Given the description of an element on the screen output the (x, y) to click on. 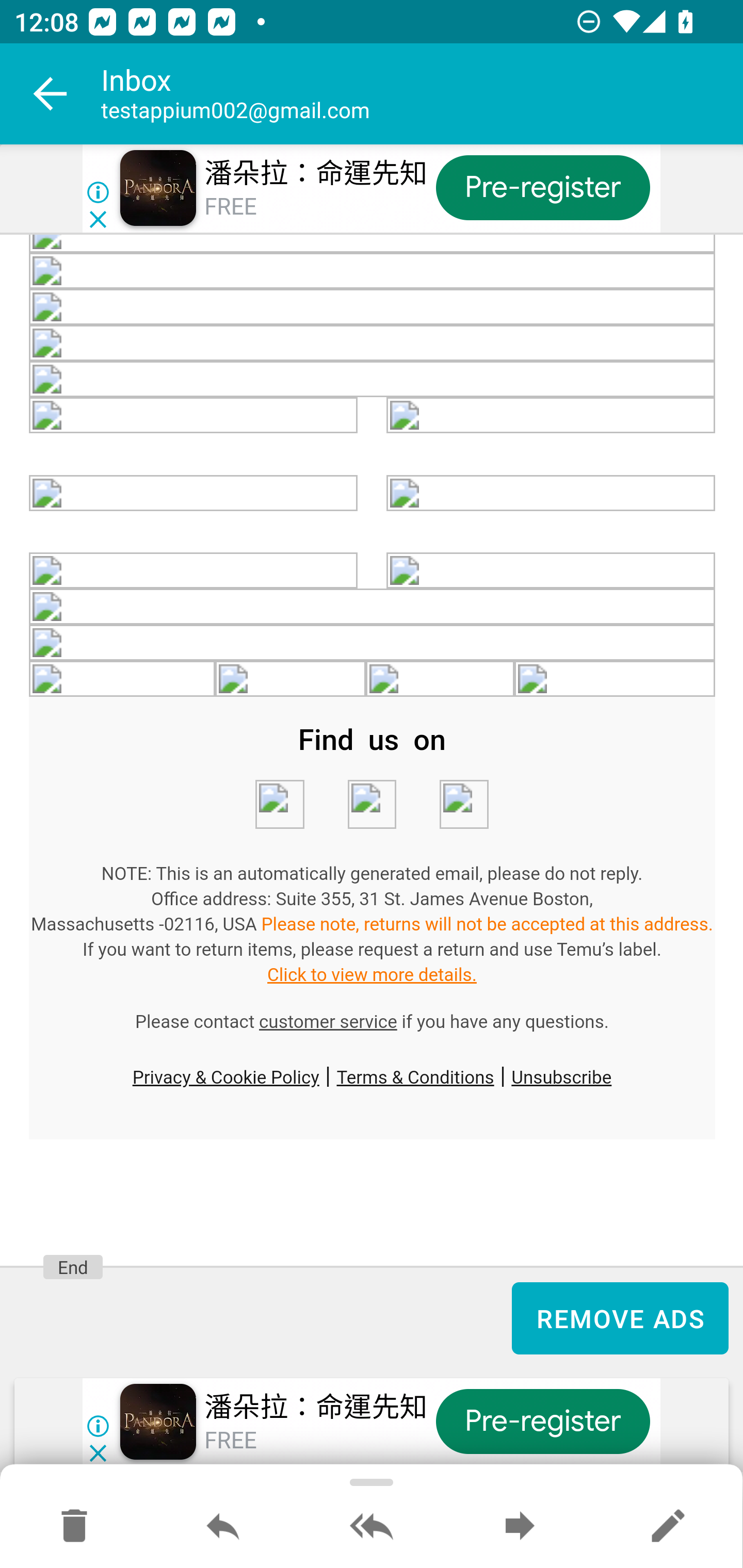
Navigate up (50, 93)
Inbox testappium002@gmail.com (422, 93)
潘朵拉：命運先知 (316, 173)
Pre-register (542, 187)
data: (372, 244)
data: (372, 271)
data: (372, 307)
data: (372, 342)
data: (372, 378)
data: (193, 414)
data: (551, 414)
data: (193, 492)
data: (551, 492)
data: (193, 570)
data: (551, 570)
data: (372, 606)
data: (372, 642)
data: (122, 678)
data: (289, 678)
data: (440, 678)
data: (614, 678)
data: (279, 805)
data: (371, 805)
data: (463, 805)
Click to view more details. (372, 975)
customer service (327, 1022)
Privacy & Cookie Policy (225, 1076)
Terms & Conditions (414, 1076)
Unsubscribe (561, 1076)
REMOVE ADS (619, 1318)
潘朵拉：命運先知 (316, 1407)
Pre-register (542, 1421)
Move to Deleted (74, 1527)
Reply (222, 1527)
Reply all (371, 1527)
Forward (519, 1527)
Reply as new (667, 1527)
